Given the description of an element on the screen output the (x, y) to click on. 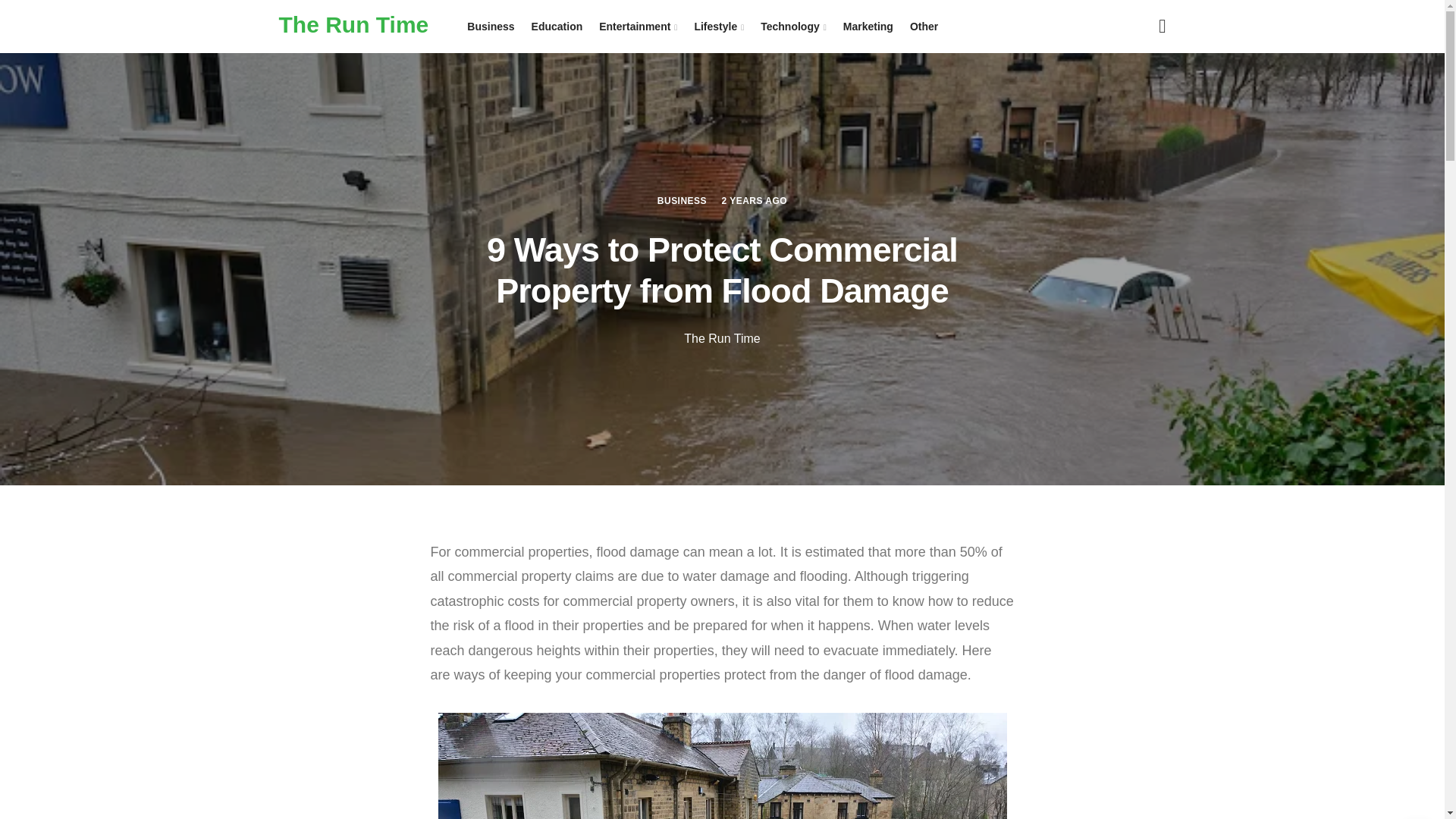
Other (923, 26)
The Run Time (722, 338)
BUSINESS (682, 201)
Education (556, 26)
The Run Time (354, 24)
Technology (793, 26)
Business (490, 26)
Marketing (867, 26)
Lifestyle (718, 26)
Entertainment (638, 26)
